Given the description of an element on the screen output the (x, y) to click on. 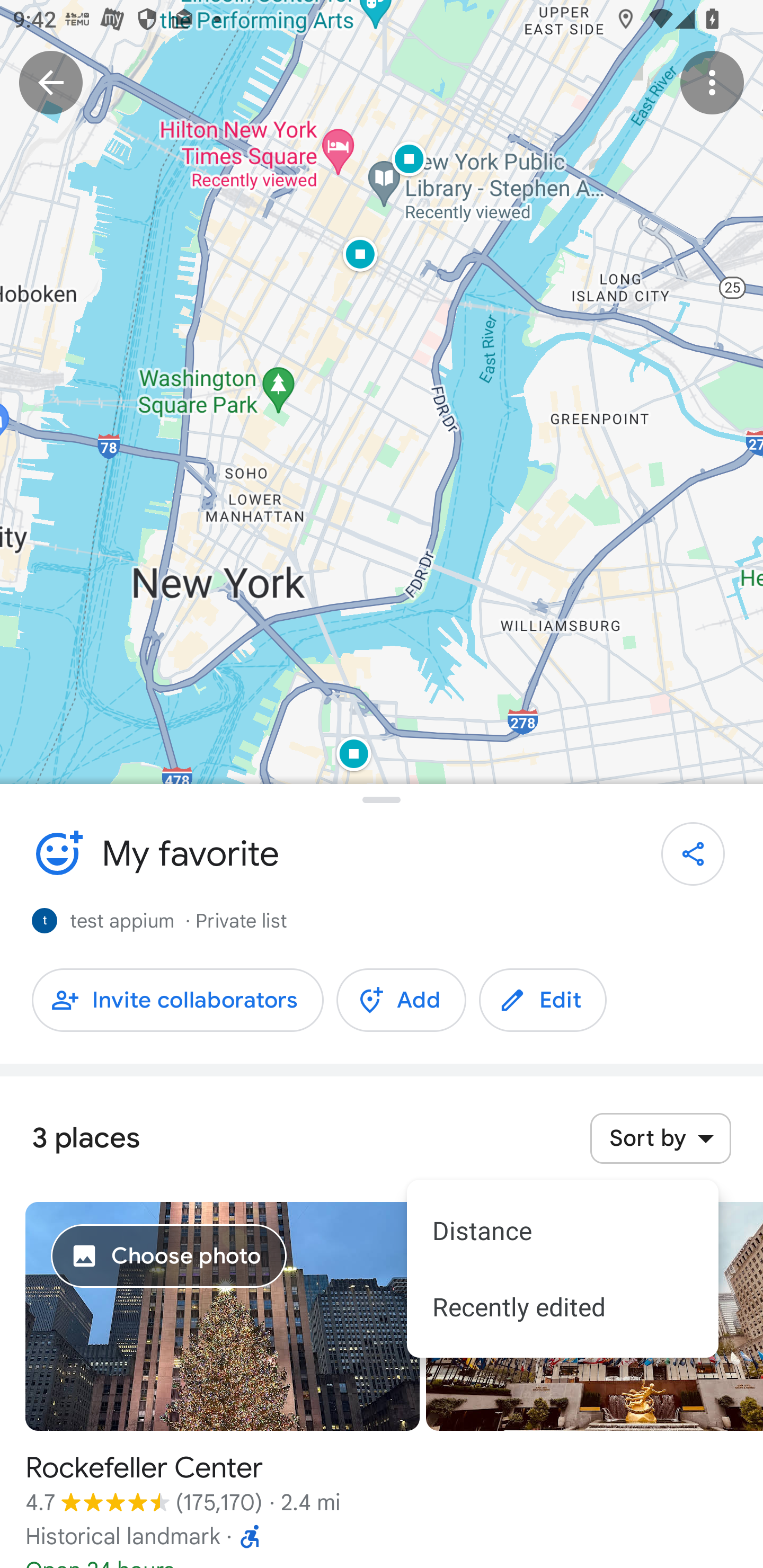
Distance (562, 1229)
Recently edited (562, 1306)
